Given the description of an element on the screen output the (x, y) to click on. 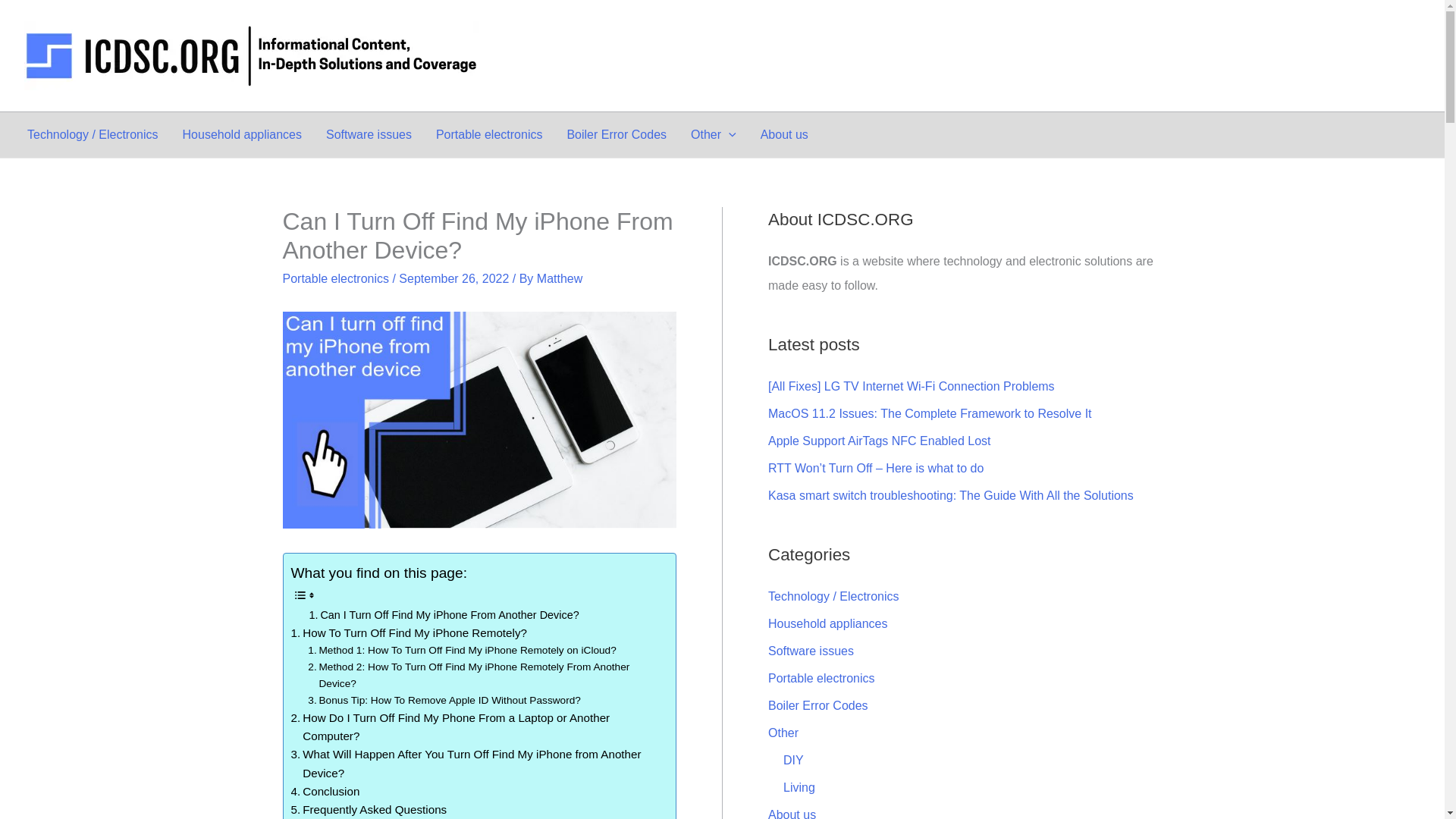
Frequently Asked Questions (368, 809)
Matthew (559, 278)
How To Turn Off Find My iPhone Remotely? (409, 633)
Method 1: How To Turn Off Find My iPhone Remotely on iCloud? (461, 650)
View all posts by Matthew (559, 278)
Conclusion (325, 791)
About us (784, 135)
How To Turn Off Find My iPhone Remotely? (409, 633)
Bonus Tip: How To Remove Apple ID Without Password? (443, 700)
Portable electronics (335, 278)
Household appliances (242, 135)
